Given the description of an element on the screen output the (x, y) to click on. 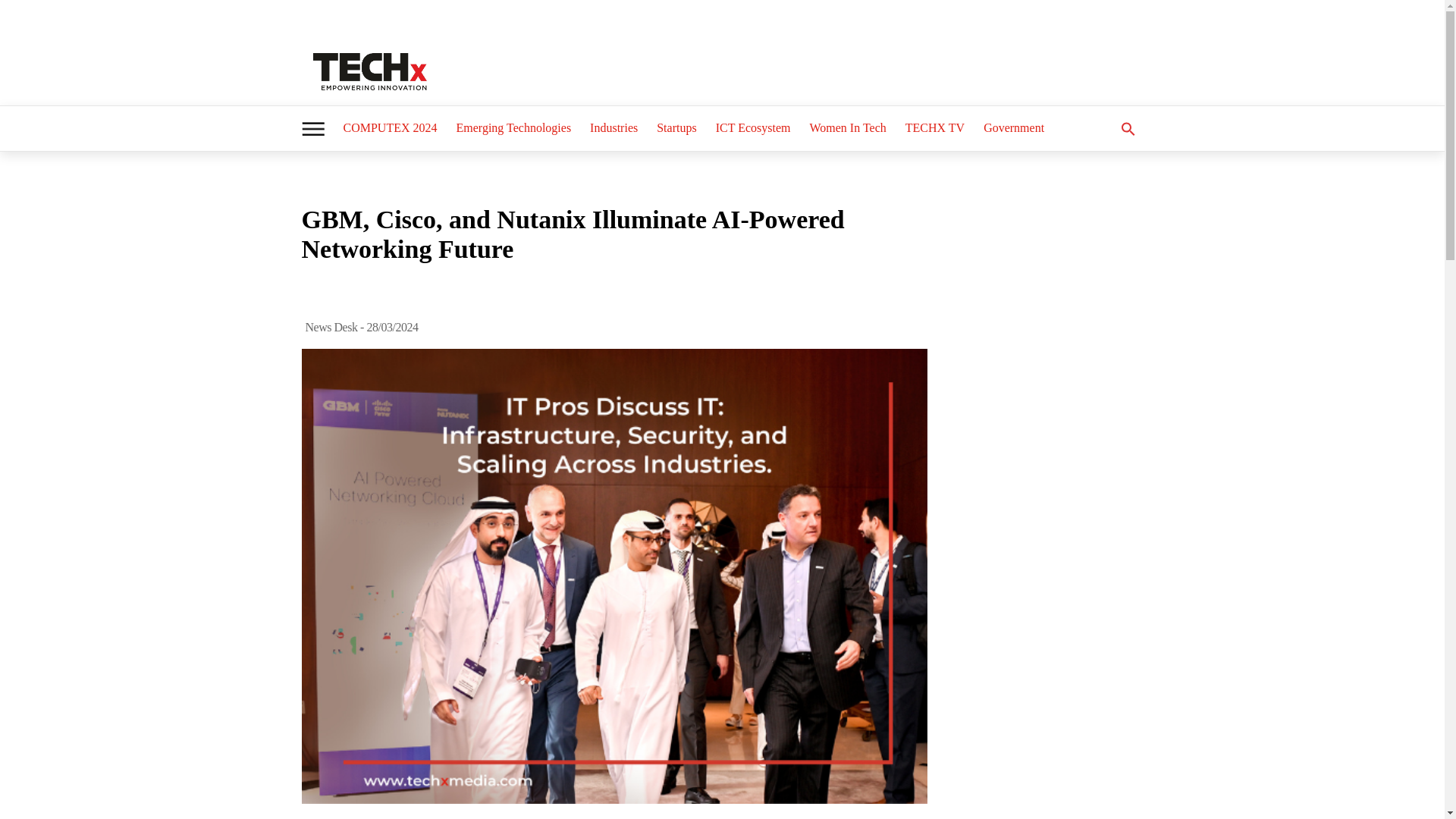
ICT Ecosystem (752, 127)
COMPUTEX 2024 (389, 127)
Industries (613, 127)
Government (1013, 127)
Women In Tech (847, 127)
Emerging Technologies (513, 127)
Startups (676, 127)
TECHX TV (935, 127)
